Given the description of an element on the screen output the (x, y) to click on. 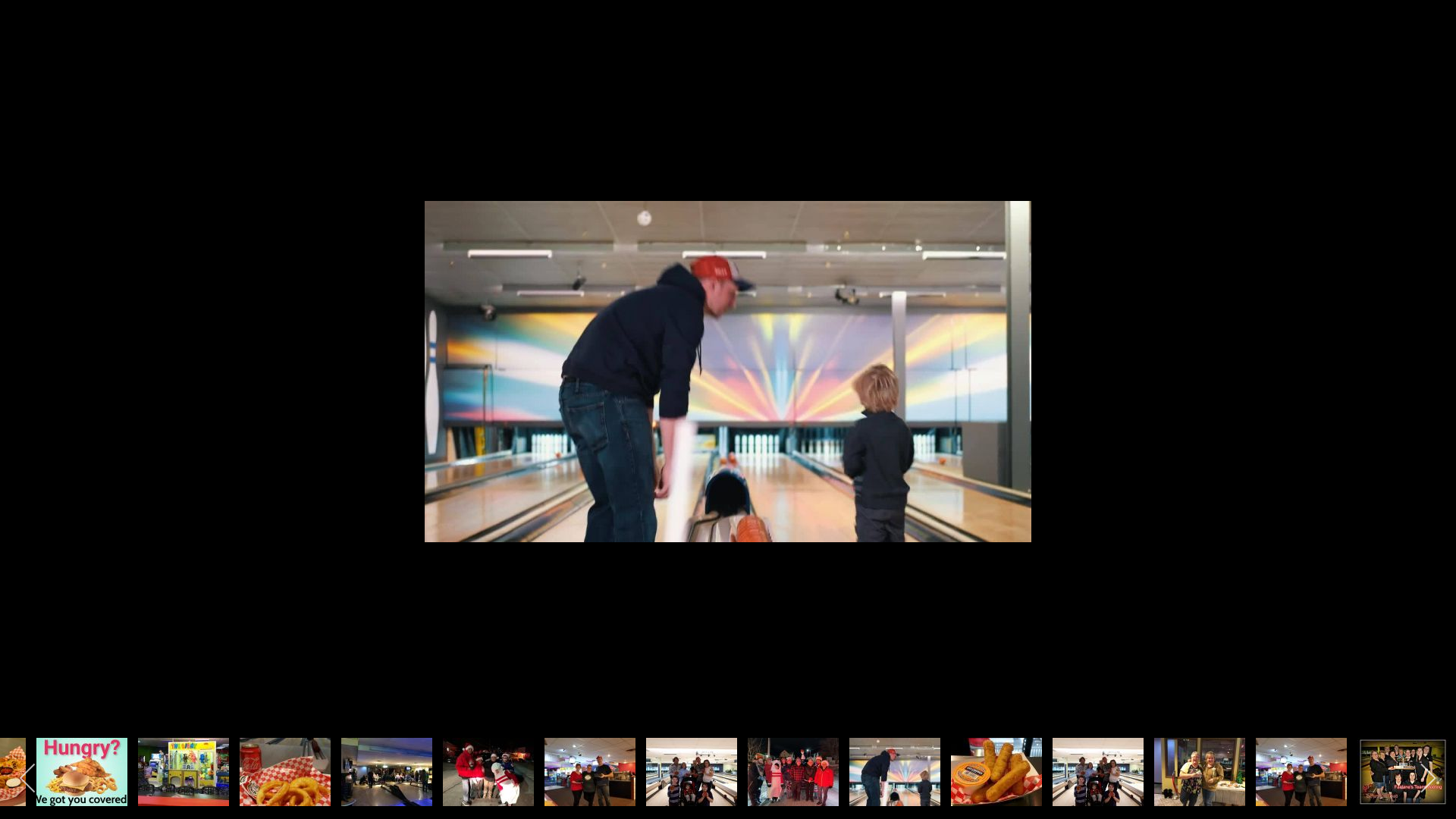
INSCRIVEZ-VOUS POUR
UNE LIGUE AUJOURD'HU! Element type: text (352, 27)
LIGUES Element type: text (867, 90)
Uonse5CTVNm   05.23.2018 12.16.22 Element type: hover (539, 257)
32585724 1226283880840111 6829887286503538688 n Element type: hover (1402, 771)
24273454 1126116027523564 5995770925988969199 o4 Element type: hover (1300, 771)
QUI SOMMES- NOUS Element type: text (493, 90)
Copy of Announcement Corona announcement Element type: hover (81, 771)
bathurst11 Element type: hover (892, 392)
77264898 1696650517136776 6771819925662072832 n Element type: hover (792, 771)
22220002 00 Element type: hover (1069, 621)
bathurst32 Element type: hover (539, 528)
bathurst9 Element type: hover (539, 392)
24991272 1129591153842718 5771215676398974949 n Element type: hover (487, 771)
24273454 1126116027523564 5995770925988969199 o Element type: hover (589, 771)
22220004 00 Element type: hover (363, 664)
bathurst13 Element type: hover (1069, 392)
21270933 1077216762413491 5551705127511112628 n Element type: hover (995, 771)
bowling 3 Element type: hover (892, 528)
24900085 1130896160378884 3973774584102856189 n Element type: hover (386, 771)
Uonse5CTVNm   05.23.2018 12.17.44 Element type: hover (716, 257)
bathurst34 Element type: hover (716, 528)
bathurst7 Element type: hover (1069, 257)
bathurst1 Element type: hover (892, 257)
nachos and beer Element type: hover (716, 664)
bathurst8 Element type: hover (363, 392)
28577697 1181473445321155 3773293583028090152 n Element type: hover (284, 771)
bathurst31 Element type: hover (363, 528)
24210090 1126118727523294 506252317296280172 o2 Element type: hover (1097, 771)
FR Element type: text (1127, 16)
Uonse5CTVNm   02.19.2018 11.42.09 Element type: hover (363, 257)
food Element type: hover (892, 664)
bathurst10 Element type: hover (716, 392)
24210090 1126118727523294 506252317296280172 o Element type: hover (691, 771)
GALERIE Element type: text (791, 90)
EN Element type: text (1146, 16)
19748703 1043655095769658 4503327958033734758 n Element type: hover (183, 771)
25298977 1130896273712206 5137873582600828860 n Element type: hover (1199, 771)
INFO Element type: text (595, 90)
36478584 1264497990352033 3502821236075921408 n Element type: hover (894, 771)
NOUS OFFRONS Element type: text (690, 90)
22220008 00 Element type: hover (539, 664)
2index Element type: hover (1069, 507)
